Given the description of an element on the screen output the (x, y) to click on. 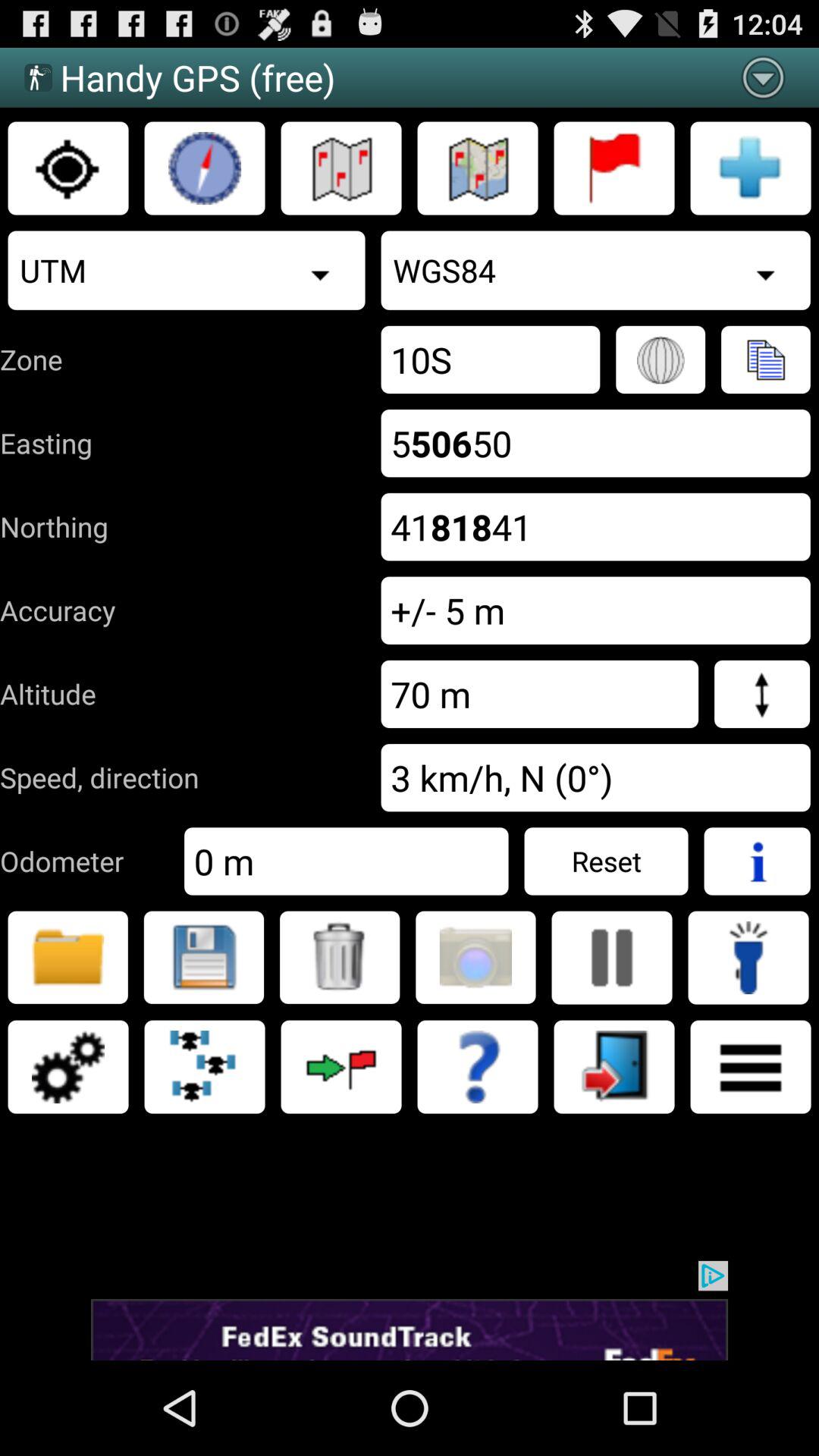
select file (203, 957)
